Given the description of an element on the screen output the (x, y) to click on. 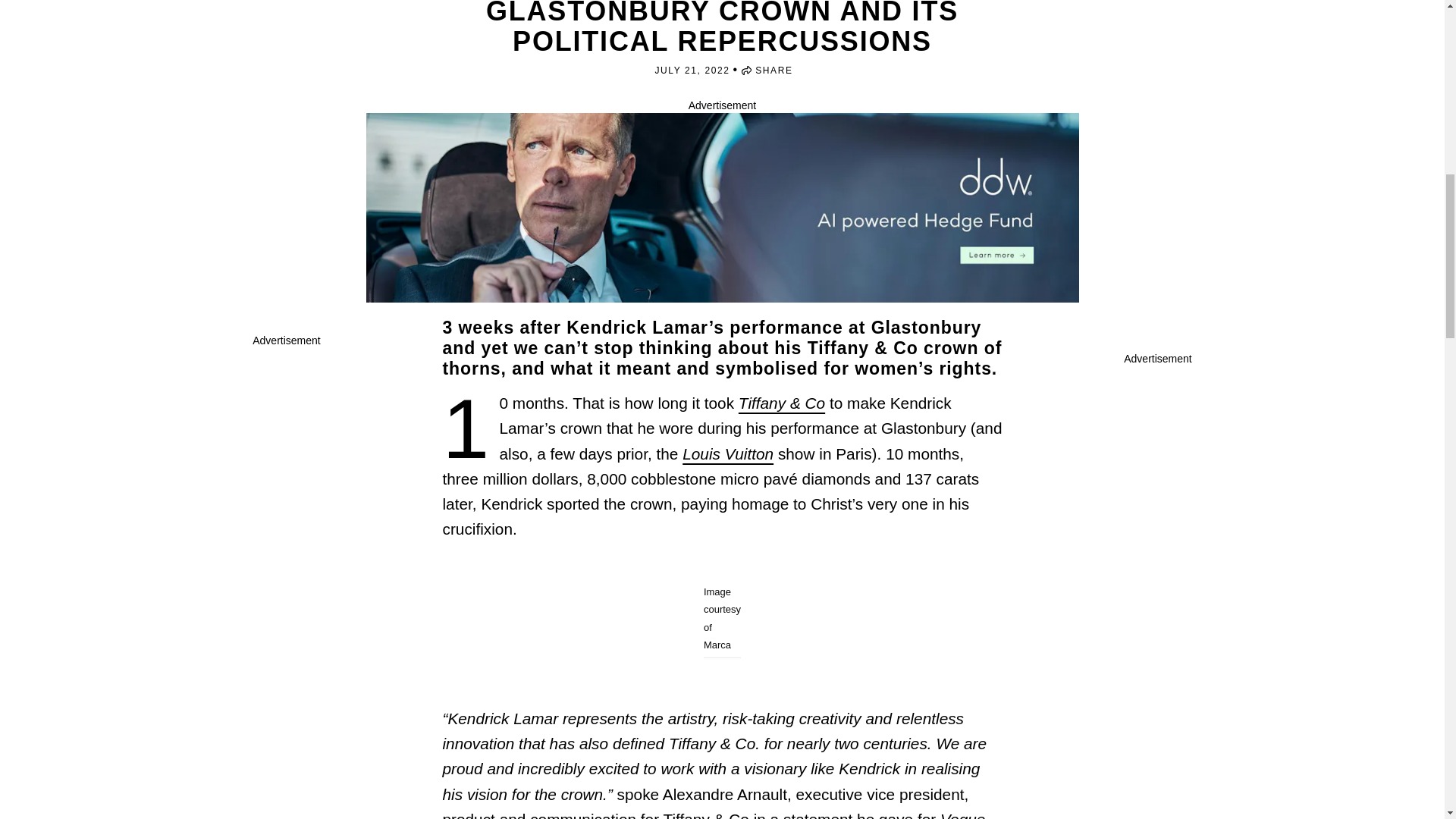
Louis Vuitton (727, 453)
Vogue (962, 814)
